Given the description of an element on the screen output the (x, y) to click on. 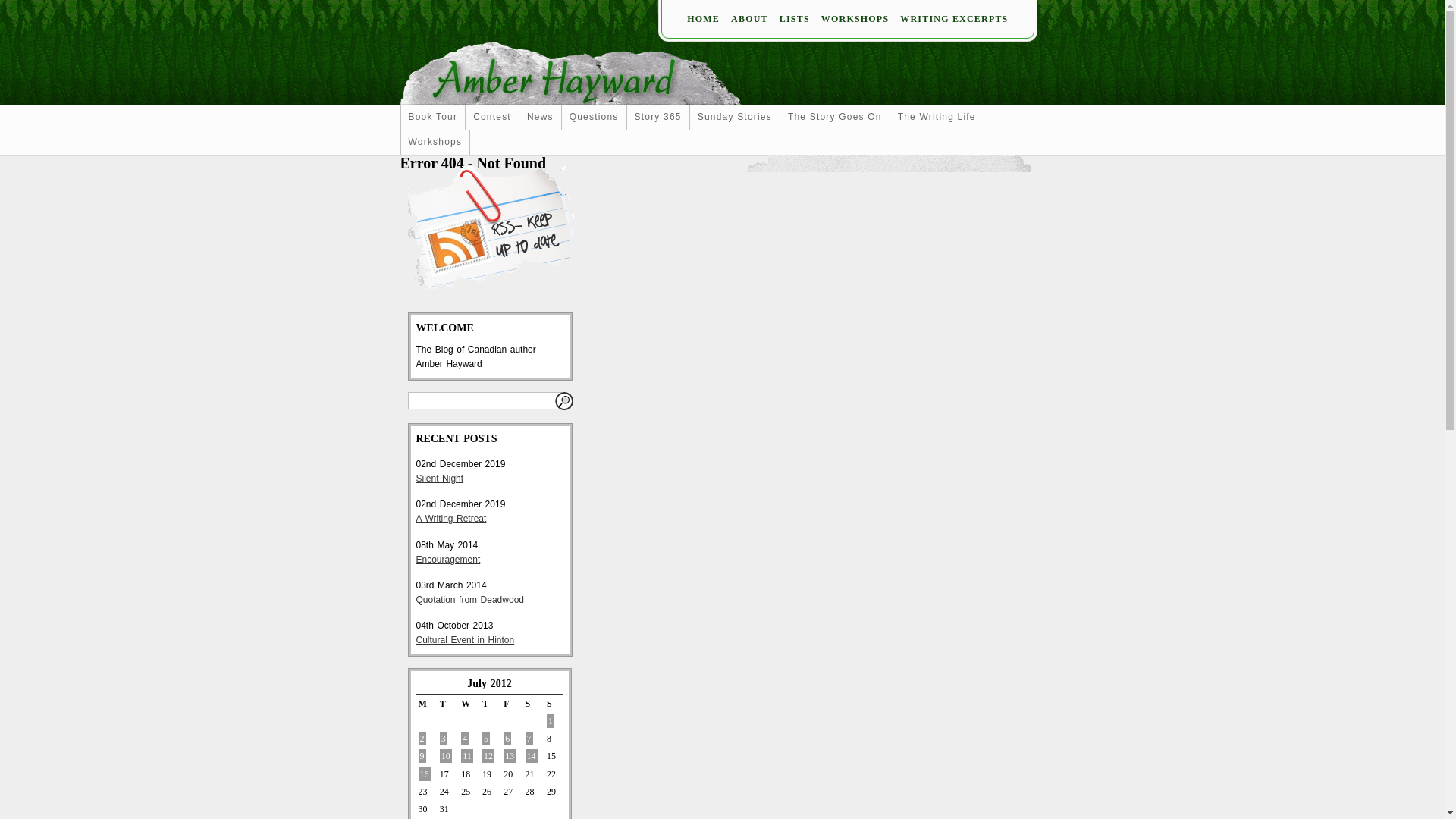
2 Element type: text (422, 738)
HOME Element type: text (703, 18)
Encouragement Element type: text (447, 559)
Story 365 Element type: text (658, 117)
7 Element type: text (529, 738)
LISTS Element type: text (794, 18)
RSS Feed Element type: hover (490, 226)
Cultural Event in Hinton Element type: text (464, 639)
1 Element type: text (550, 721)
3 Element type: text (443, 738)
9 Element type: text (422, 755)
12 Element type: text (488, 755)
WRITING EXCERPTS Element type: text (953, 18)
4 Element type: text (464, 738)
6 Element type: text (507, 738)
16 Element type: text (424, 774)
10 Element type: text (445, 755)
13 Element type: text (509, 755)
14 Element type: text (531, 755)
A Writing Retreat Element type: text (450, 518)
The Writing Life Element type: text (936, 117)
Quotation from Deadwood Element type: text (469, 599)
Workshops Element type: text (434, 142)
WORKSHOPS Element type: text (854, 18)
11 Element type: text (467, 755)
Contest Element type: text (491, 117)
Silent Night Element type: text (439, 478)
Book Tour Element type: text (432, 117)
5 Element type: text (485, 738)
The Story Goes On Element type: text (834, 117)
Sunday Stories Element type: text (734, 117)
Questions Element type: text (593, 117)
ABOUT Element type: text (749, 18)
News Element type: text (540, 117)
